Given the description of an element on the screen output the (x, y) to click on. 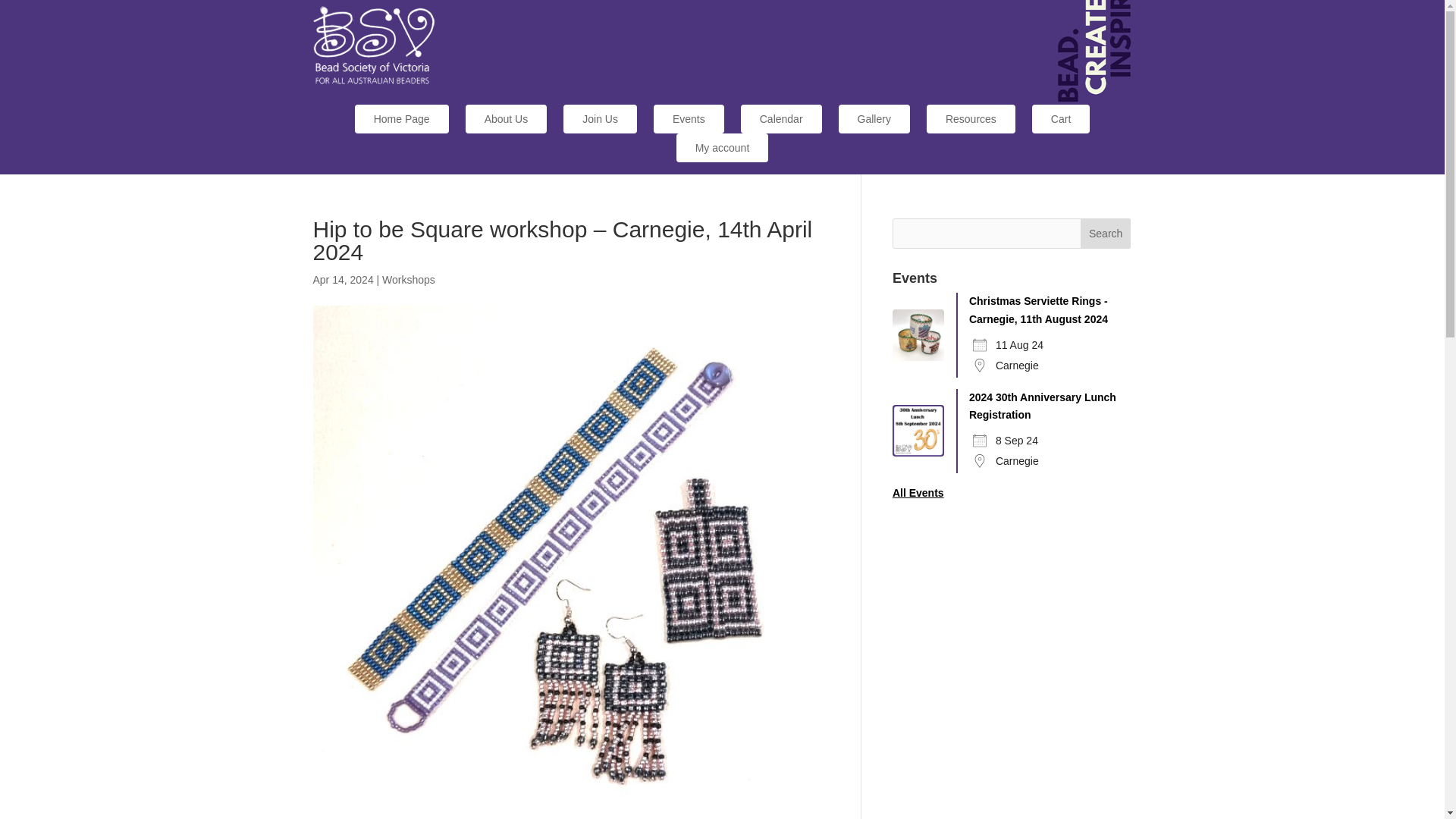
About Us (506, 118)
My account (722, 147)
Join Us (600, 118)
Events (688, 118)
Home Page (401, 118)
Cart (1060, 118)
all events (917, 492)
Resources (970, 118)
Gallery (874, 118)
Calendar (781, 118)
